Given the description of an element on the screen output the (x, y) to click on. 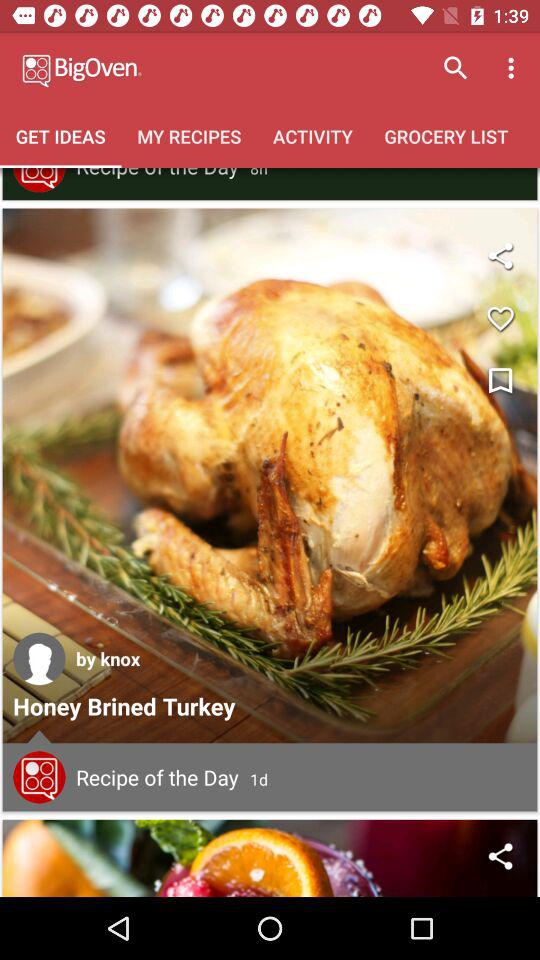
open recipe (269, 475)
